Given the description of an element on the screen output the (x, y) to click on. 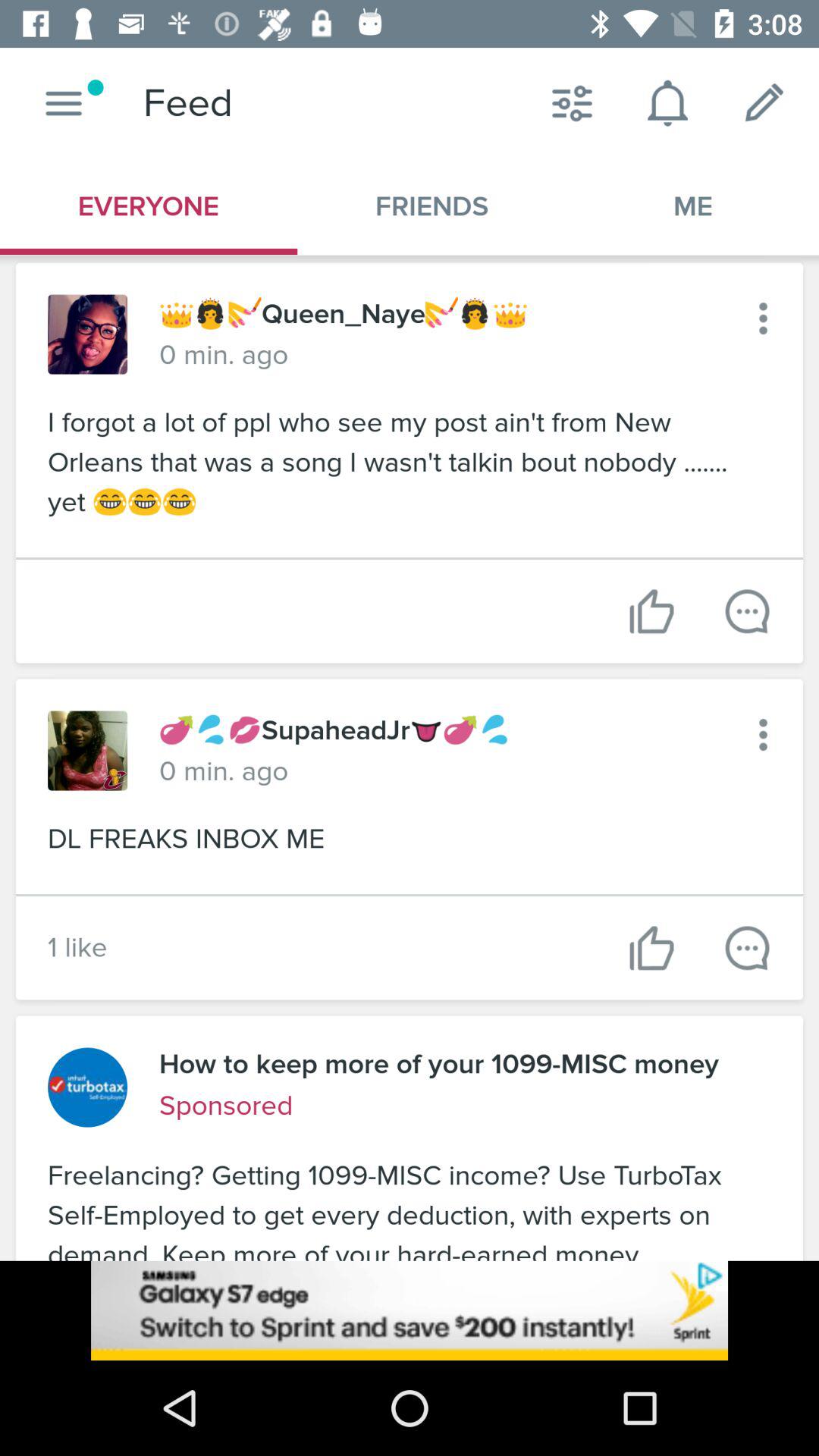
go to icon (763, 318)
